Given the description of an element on the screen output the (x, y) to click on. 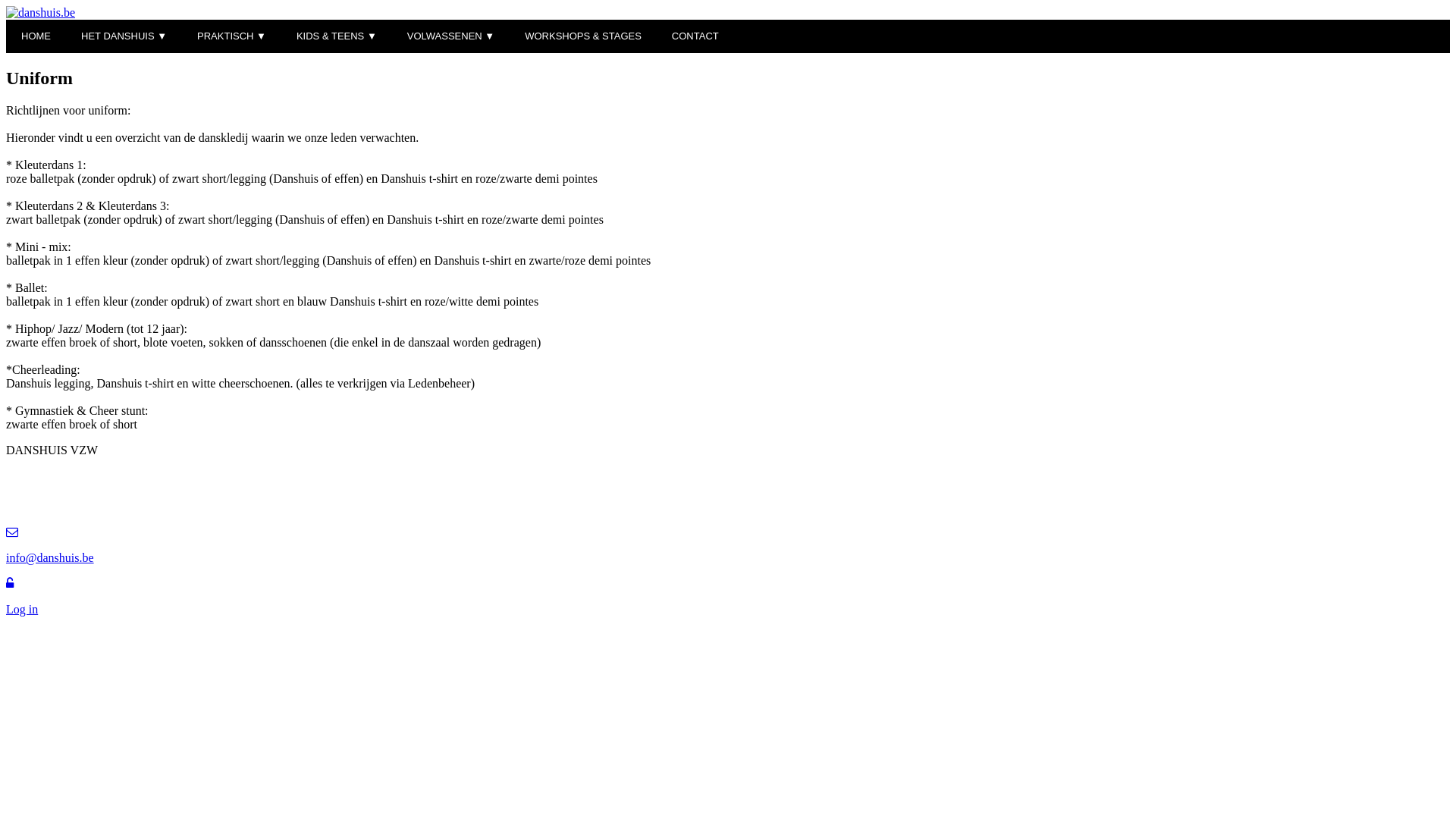
Log in Element type: text (727, 596)
WORKSHOPS & STAGES Element type: text (582, 36)
CONTACT Element type: text (695, 36)
info@danshuis.be Element type: text (727, 557)
HOME Element type: text (35, 36)
